Given the description of an element on the screen output the (x, y) to click on. 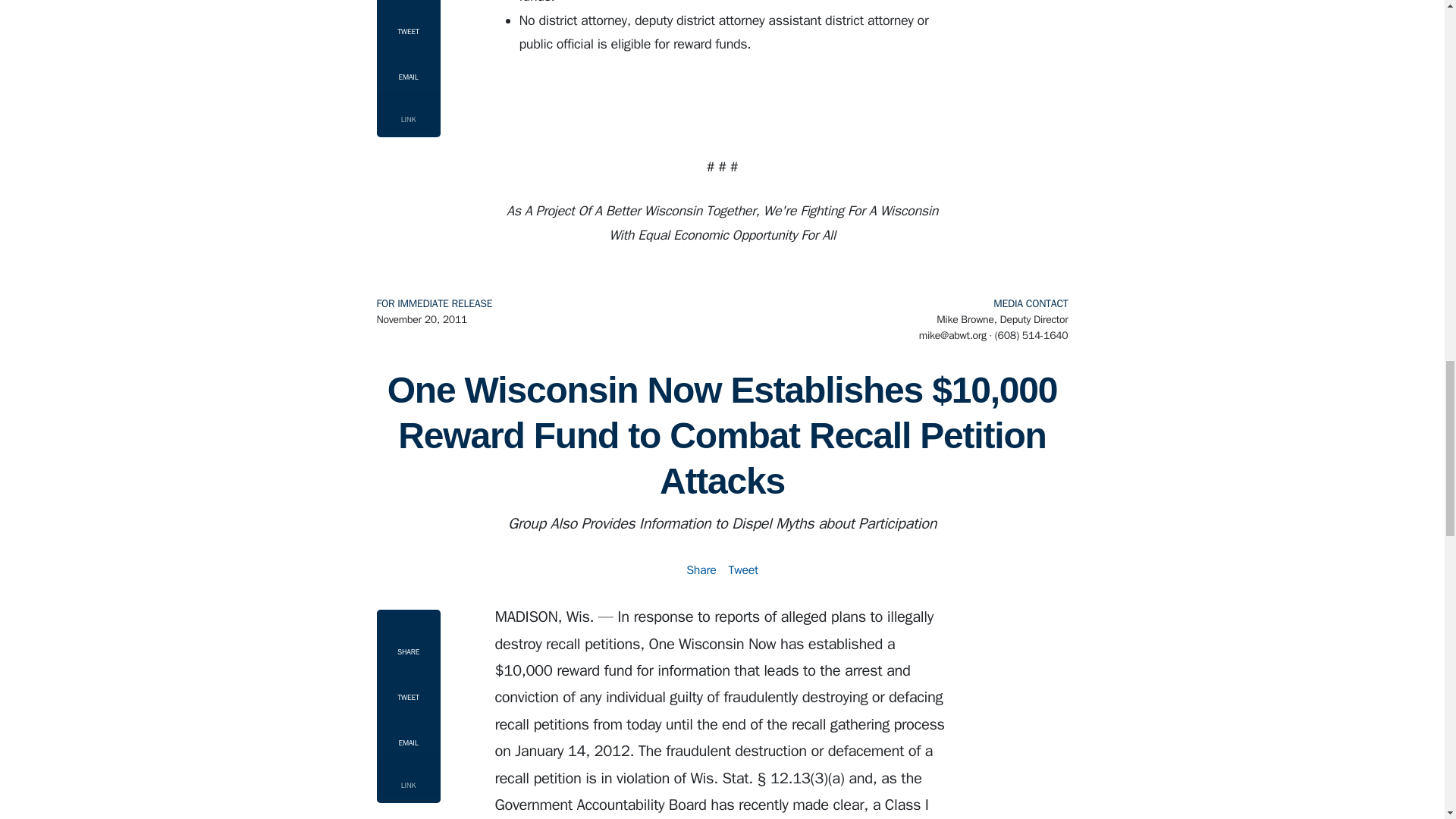
Tweet (742, 570)
Share (700, 570)
SHARE (407, 639)
TWEET (407, 687)
LINK (407, 776)
EMAIL (407, 732)
